Given the description of an element on the screen output the (x, y) to click on. 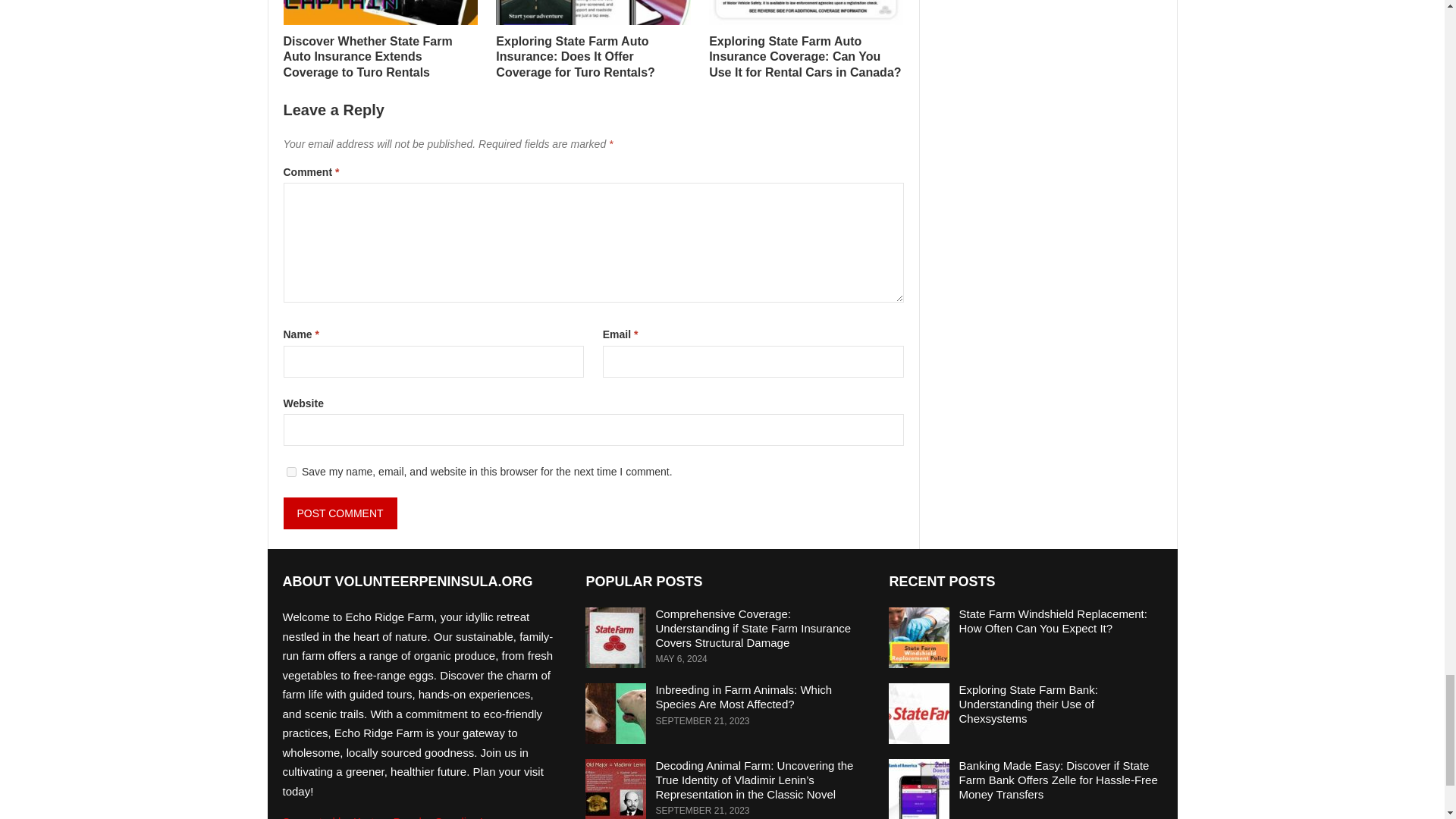
yes (291, 471)
Post Comment (340, 513)
Post Comment (340, 513)
